Given the description of an element on the screen output the (x, y) to click on. 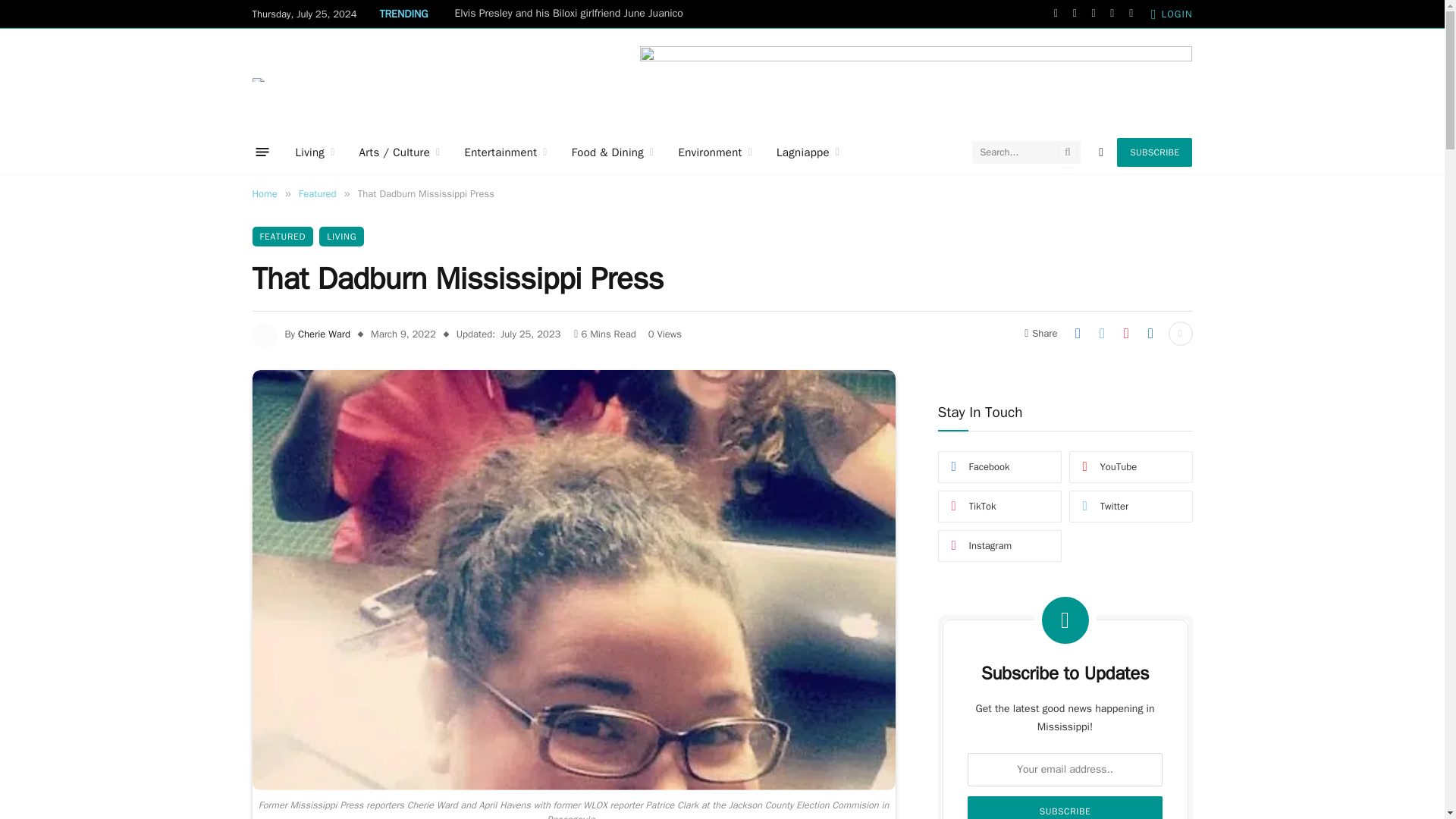
Elvis Presley and his Biloxi girlfriend June Juanico (572, 13)
Living (315, 151)
Subscribe (1064, 807)
LOGIN (1171, 13)
Instagram (1093, 13)
Our Mississippi Home (257, 79)
YouTube (1112, 13)
Facebook (1055, 13)
TikTok (1131, 13)
